Given the description of an element on the screen output the (x, y) to click on. 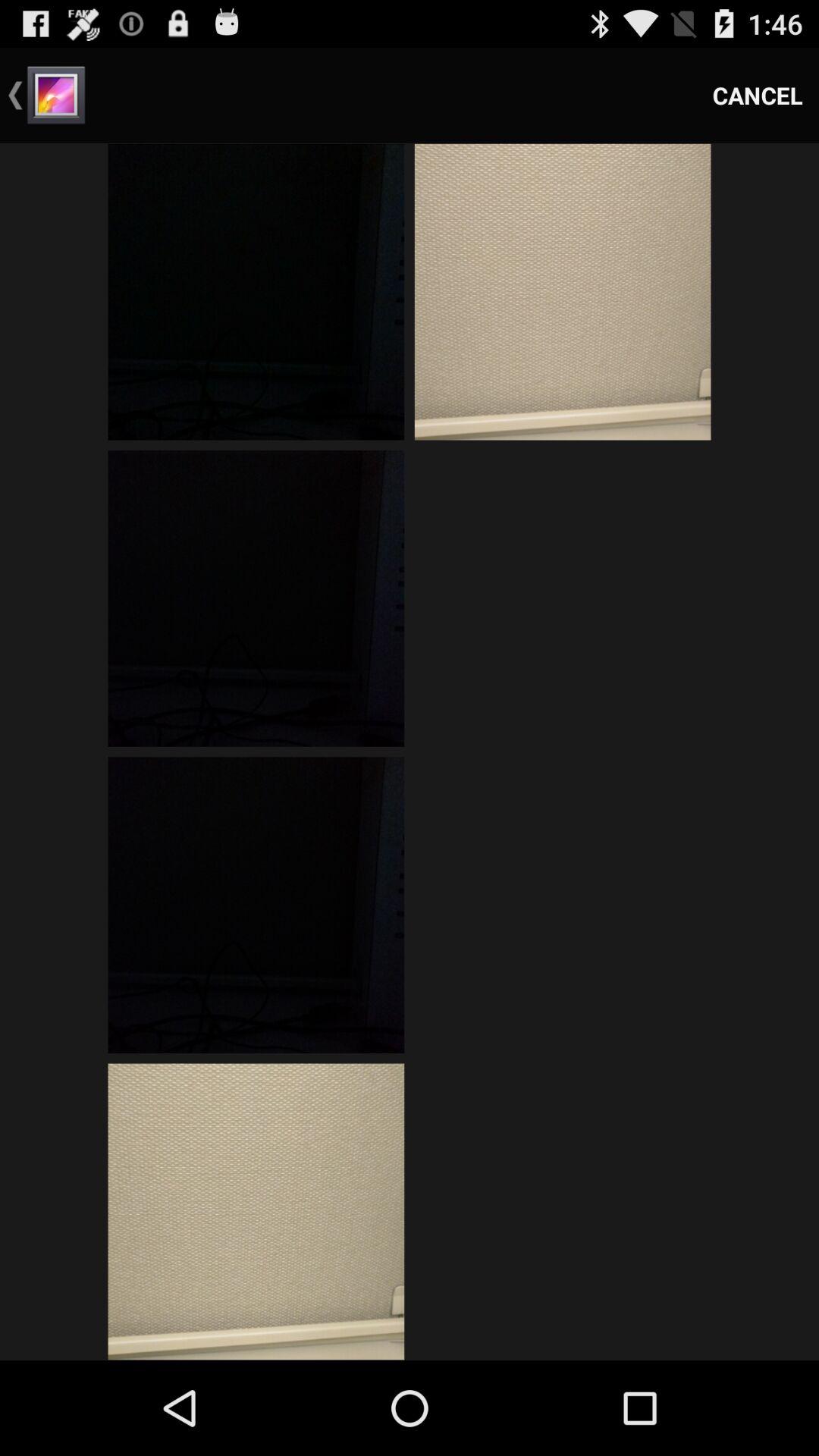
scroll to cancel icon (757, 95)
